Given the description of an element on the screen output the (x, y) to click on. 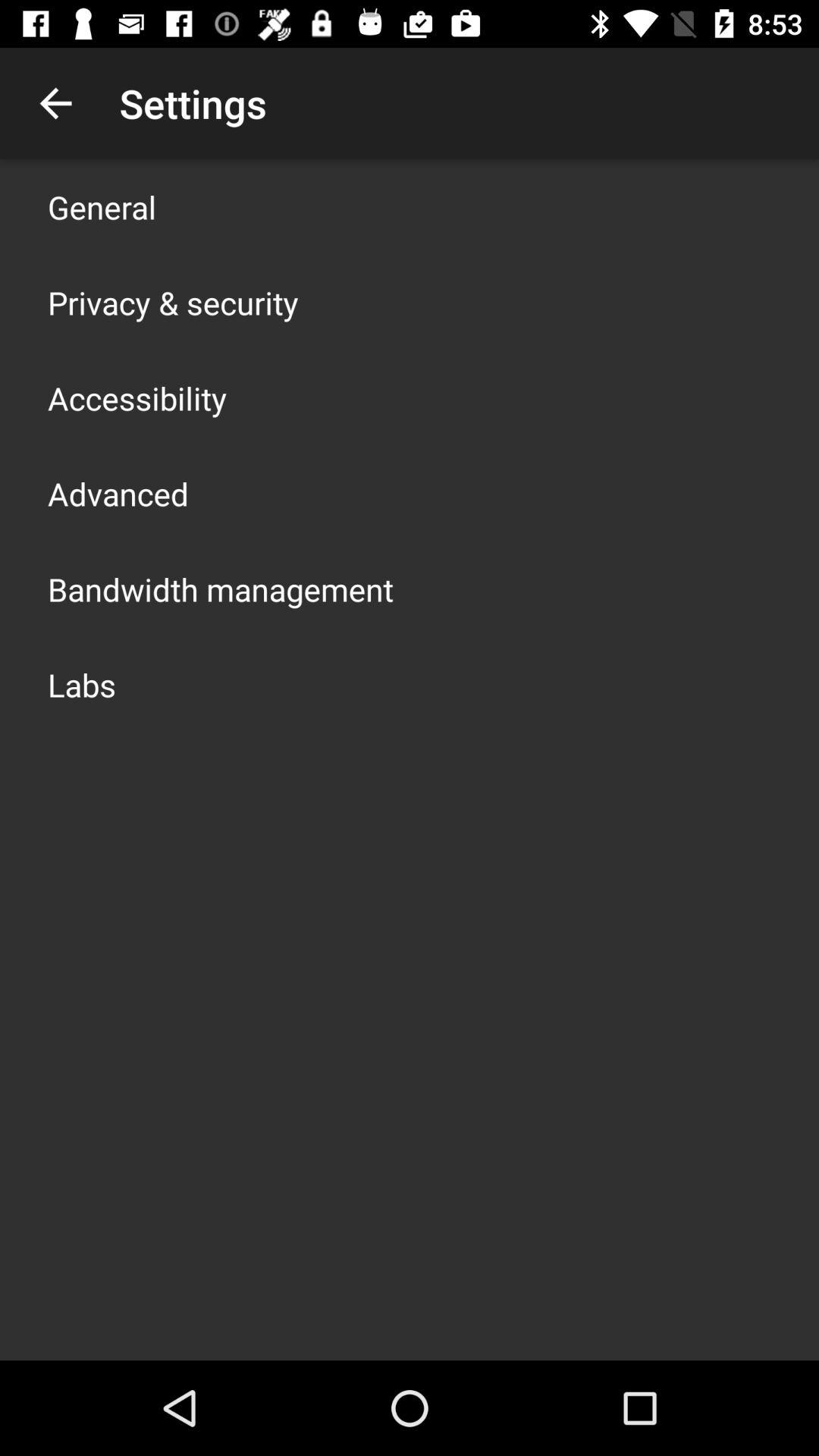
choose bandwidth management icon (220, 588)
